Given the description of an element on the screen output the (x, y) to click on. 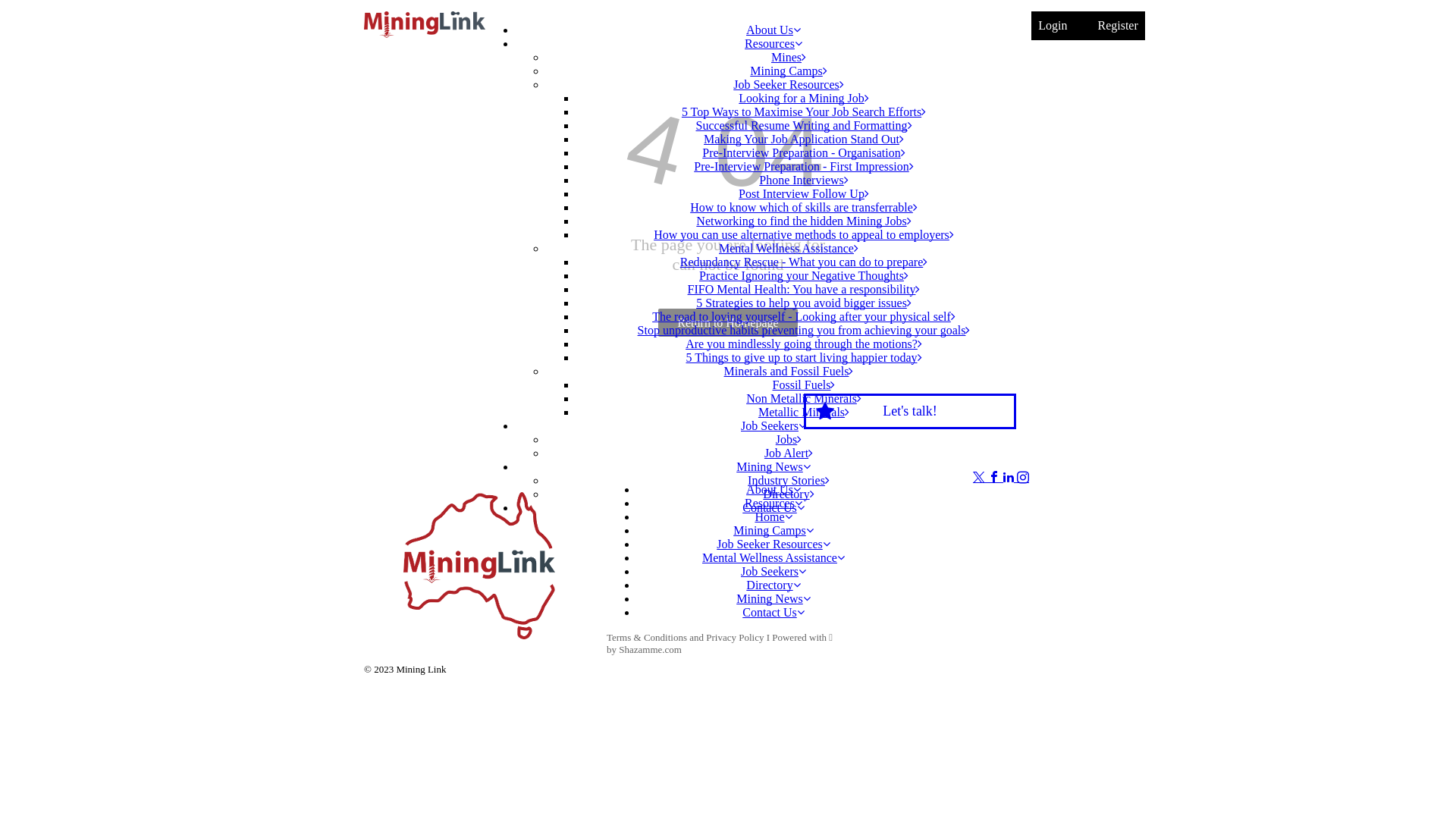
5 Things to give up to start living happier today Element type: text (803, 357)
Fossil Fuels Element type: text (803, 384)
Minerals and Fossil Fuels Element type: text (788, 370)
How you can use alternative methods to appeal to employers Element type: text (803, 234)
Phone Interviews Element type: text (803, 179)
Mining News Element type: text (773, 466)
Job Alert Element type: text (788, 452)
Register Element type: text (1117, 25)
Mining Camps Element type: text (788, 70)
Directory Element type: text (787, 493)
Terms & Conditions and Privacy Policy Element type: text (684, 637)
Mining Camps Element type: text (773, 530)
Directory Element type: text (773, 584)
Looking for a Mining Job Element type: text (803, 97)
Mental Wellness Assistance Element type: text (788, 247)
FIFO Mental Health: You have a responsibility Element type: text (803, 288)
Job Seekers Element type: text (773, 570)
Practice Ignoring your Negative Thoughts Element type: text (803, 275)
Home Element type: text (772, 516)
Post Interview Follow Up Element type: text (803, 193)
Job Seeker Resources Element type: text (773, 543)
Jobs Element type: text (788, 439)
Login Element type: text (1052, 25)
Let's talk! Element type: text (909, 411)
Contact Us Element type: text (773, 507)
Mines Element type: text (788, 56)
5 Top Ways to Maximise Your Job Search Efforts Element type: text (803, 111)
Are you mindlessly going through the motions? Element type: text (803, 343)
Job Seeker Resources Element type: text (788, 84)
Contact Us Element type: text (773, 611)
Pre-Interview Preparation - Organisation Element type: text (803, 152)
Metallic Minerals Element type: text (803, 411)
Making Your Job Application Stand Out Element type: text (803, 138)
Resources Element type: text (773, 43)
Redundancy Rescue - What you can do to prepare Element type: text (803, 261)
Mining News Element type: text (773, 598)
5 Strategies to help you avoid bigger issues Element type: text (803, 302)
Non Metallic Minerals Element type: text (803, 398)
About Us Element type: text (773, 489)
Pre-Interview Preparation - First Impression Element type: text (803, 166)
Networking to find the hidden Mining Jobs Element type: text (803, 220)
Shazamme.com Element type: text (649, 649)
Industry Stories Element type: text (788, 479)
About Us Element type: text (773, 29)
Job Seekers Element type: text (773, 425)
How to know which of skills are transferrable Element type: text (803, 206)
Resources Element type: text (773, 502)
Return to Homepage Element type: text (727, 322)
Successful Resume Writing and Formatting Element type: text (803, 125)
Mental Wellness Assistance Element type: text (773, 557)
